Given the description of an element on the screen output the (x, y) to click on. 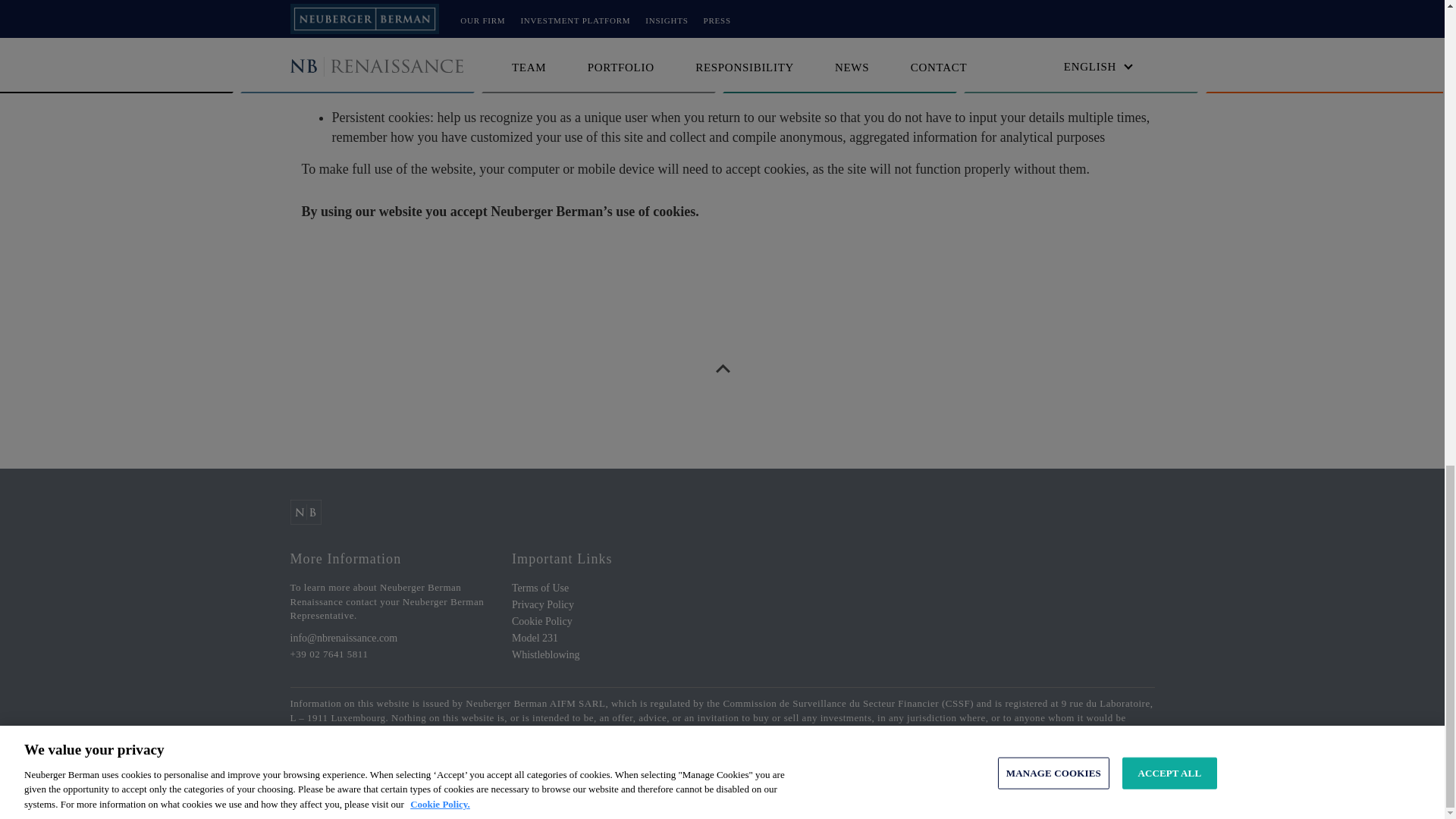
Terms of Use (540, 587)
Whistleblowing (545, 654)
Model 231 (534, 637)
Privacy Policy (542, 604)
Cookie Policy (542, 621)
